Given the description of an element on the screen output the (x, y) to click on. 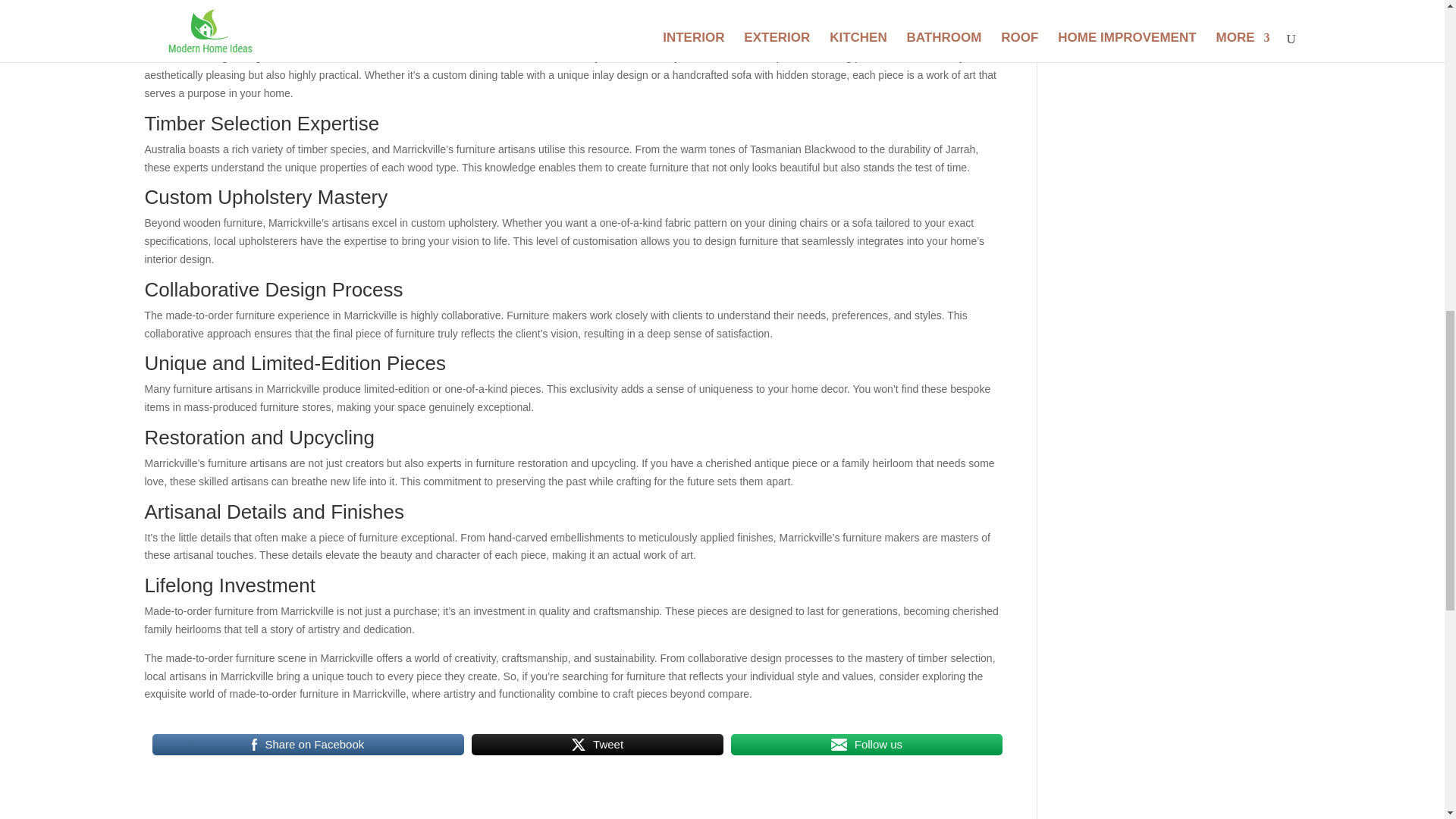
Follow us (866, 744)
Share on Facebook (307, 744)
Tweet (597, 744)
